Given the description of an element on the screen output the (x, y) to click on. 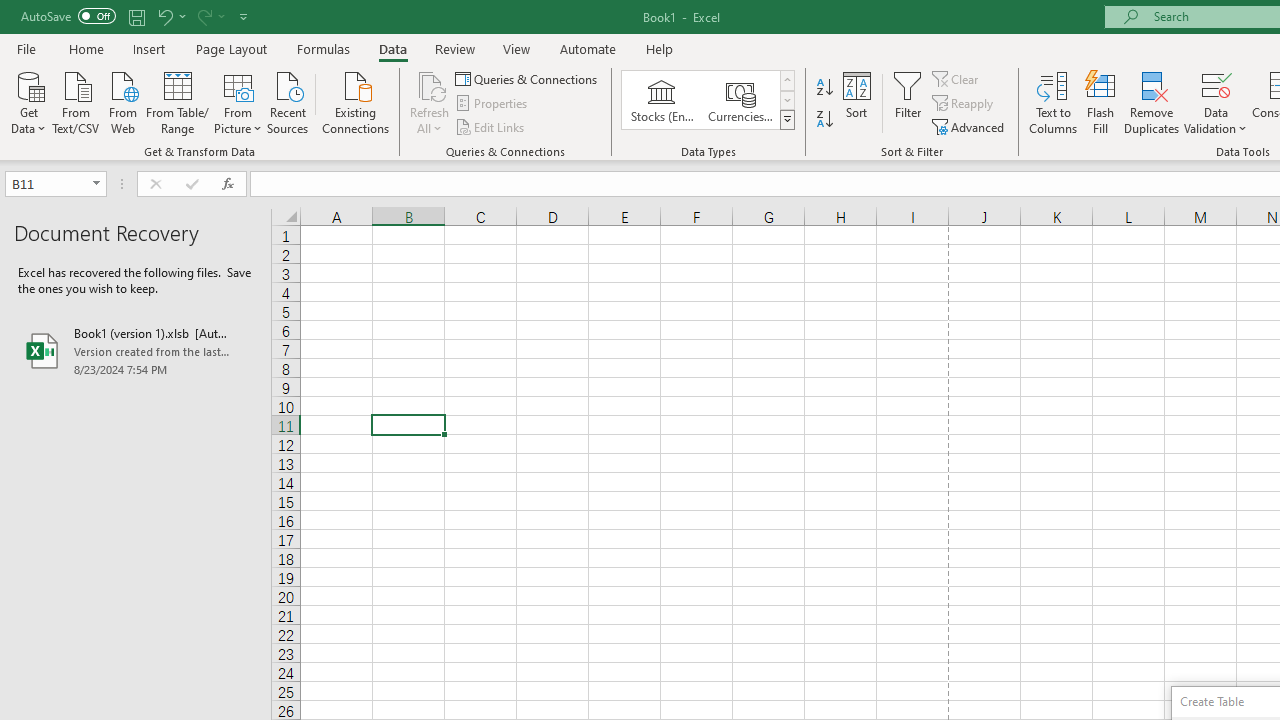
Edit Links (491, 126)
Filter (908, 102)
Book1 (version 1).xlsb  [AutoRecovered] (136, 350)
Class: NetUIImage (787, 119)
Data Types (786, 120)
